Given the description of an element on the screen output the (x, y) to click on. 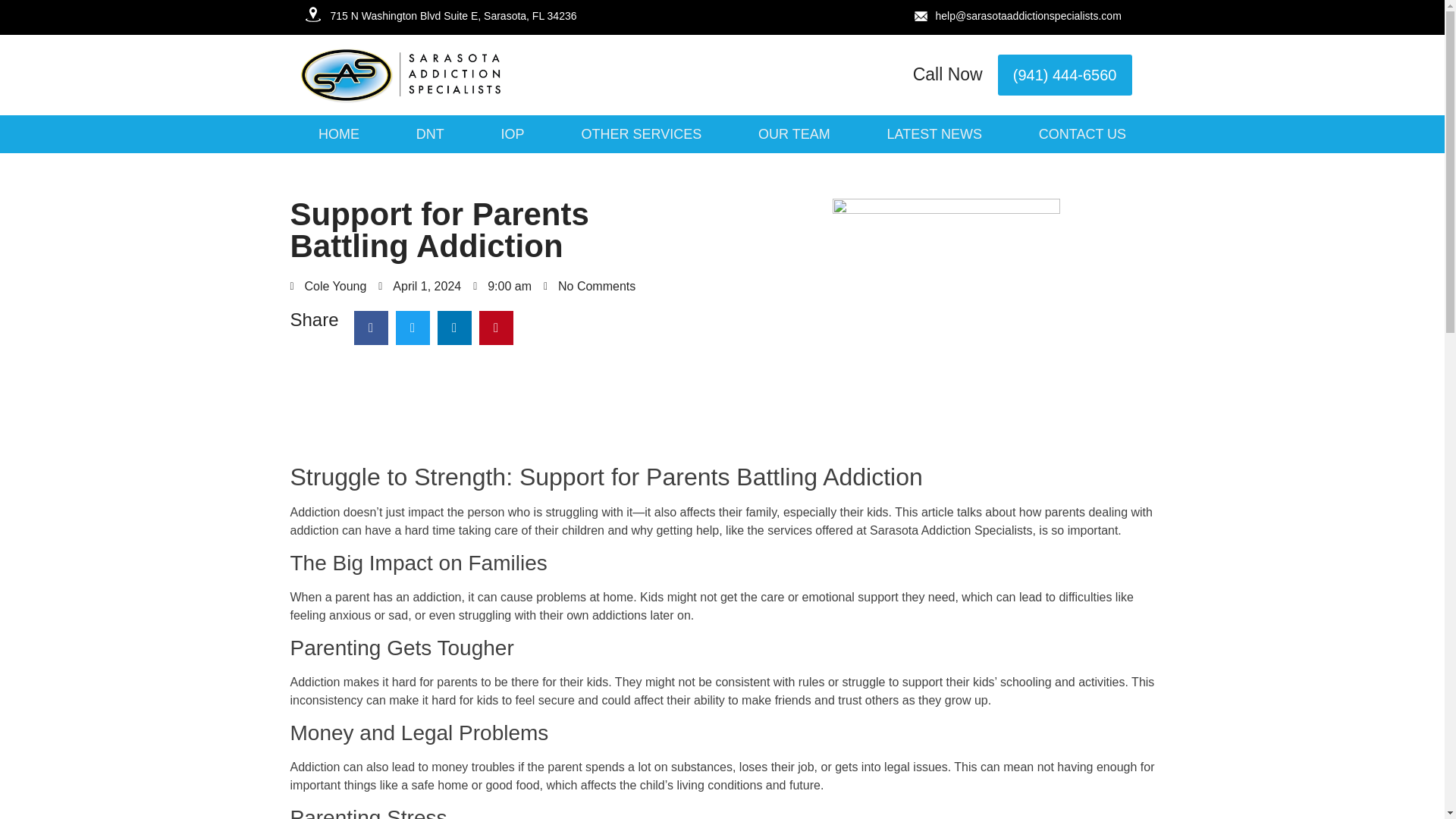
Layer 5 (312, 14)
